Given the description of an element on the screen output the (x, y) to click on. 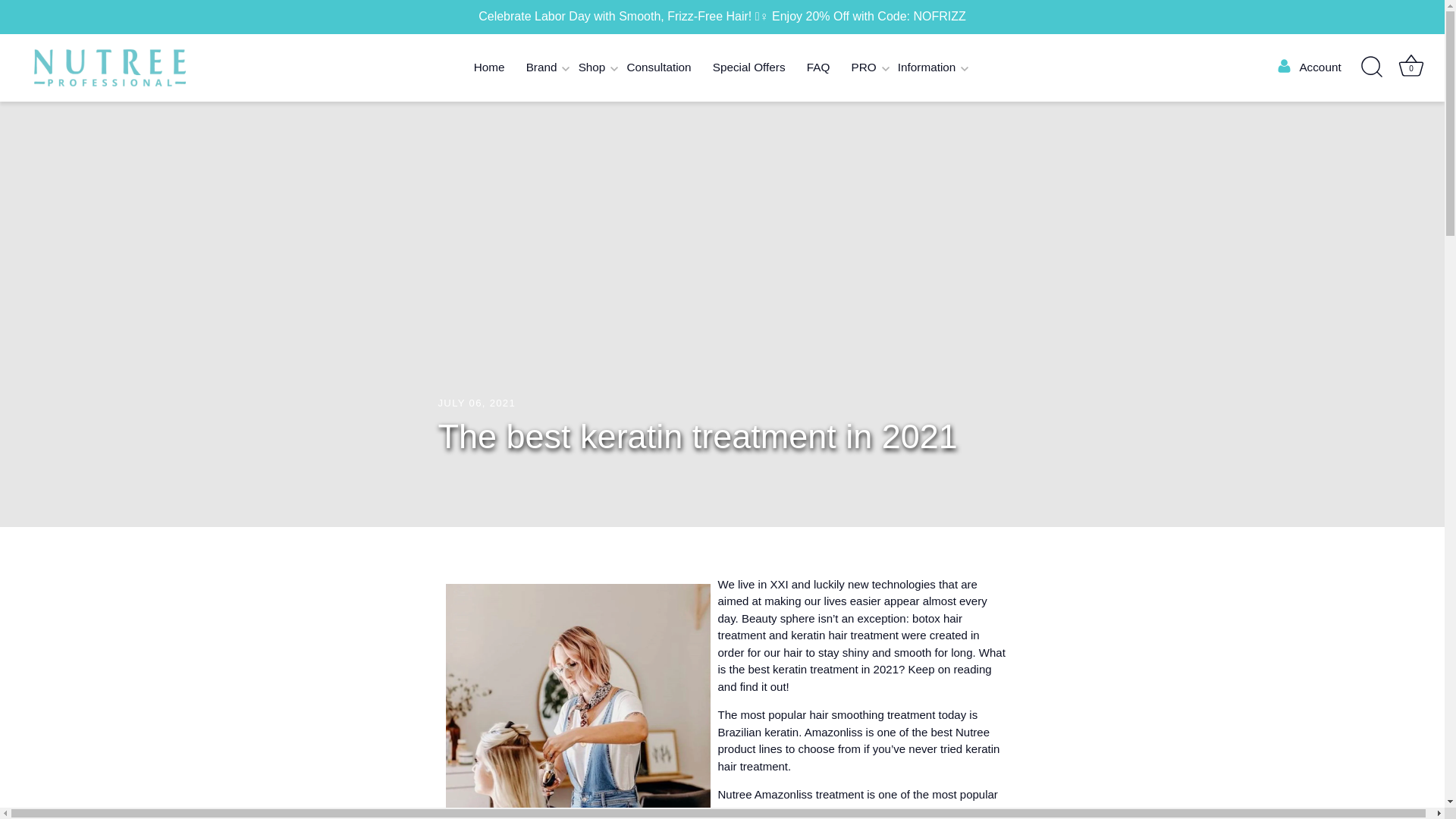
Shop (591, 68)
Basket (1410, 65)
Home (488, 68)
FAQ (818, 68)
PRO (863, 68)
Consultation (658, 68)
Special Offers (748, 68)
Brand (541, 68)
Information (926, 68)
